Given the description of an element on the screen output the (x, y) to click on. 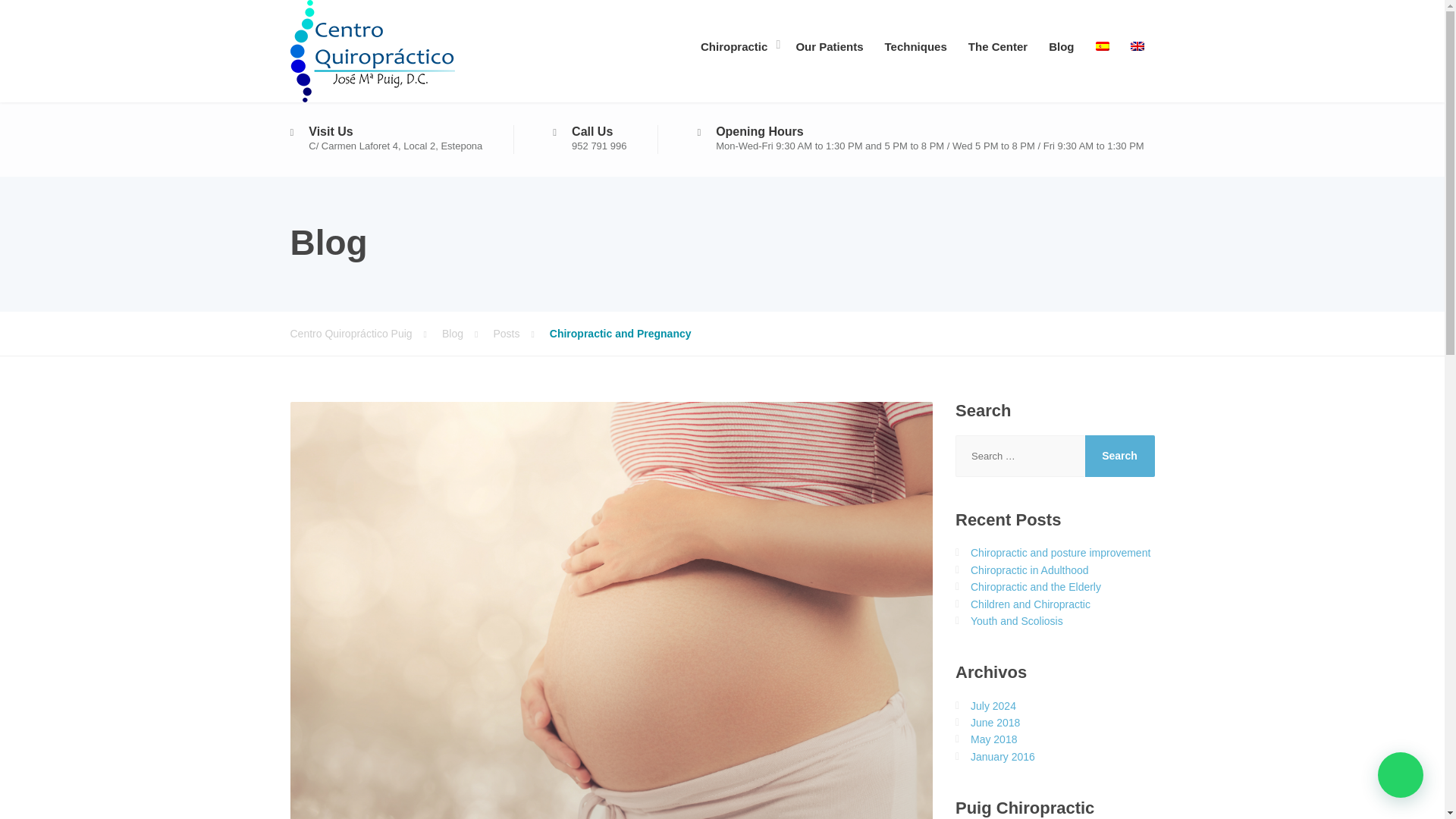
Chiropractic and posture improvement (1060, 552)
Youth and Scoliosis (1016, 621)
Blog (467, 333)
Search (1119, 455)
June 2018 (995, 722)
Chiropractic in Adulthood (1030, 570)
Go to the Posts Category archives. (520, 333)
Chiropractic (737, 44)
January 2016 (1003, 756)
Chiropractic and the Elderly (1035, 586)
